Given the description of an element on the screen output the (x, y) to click on. 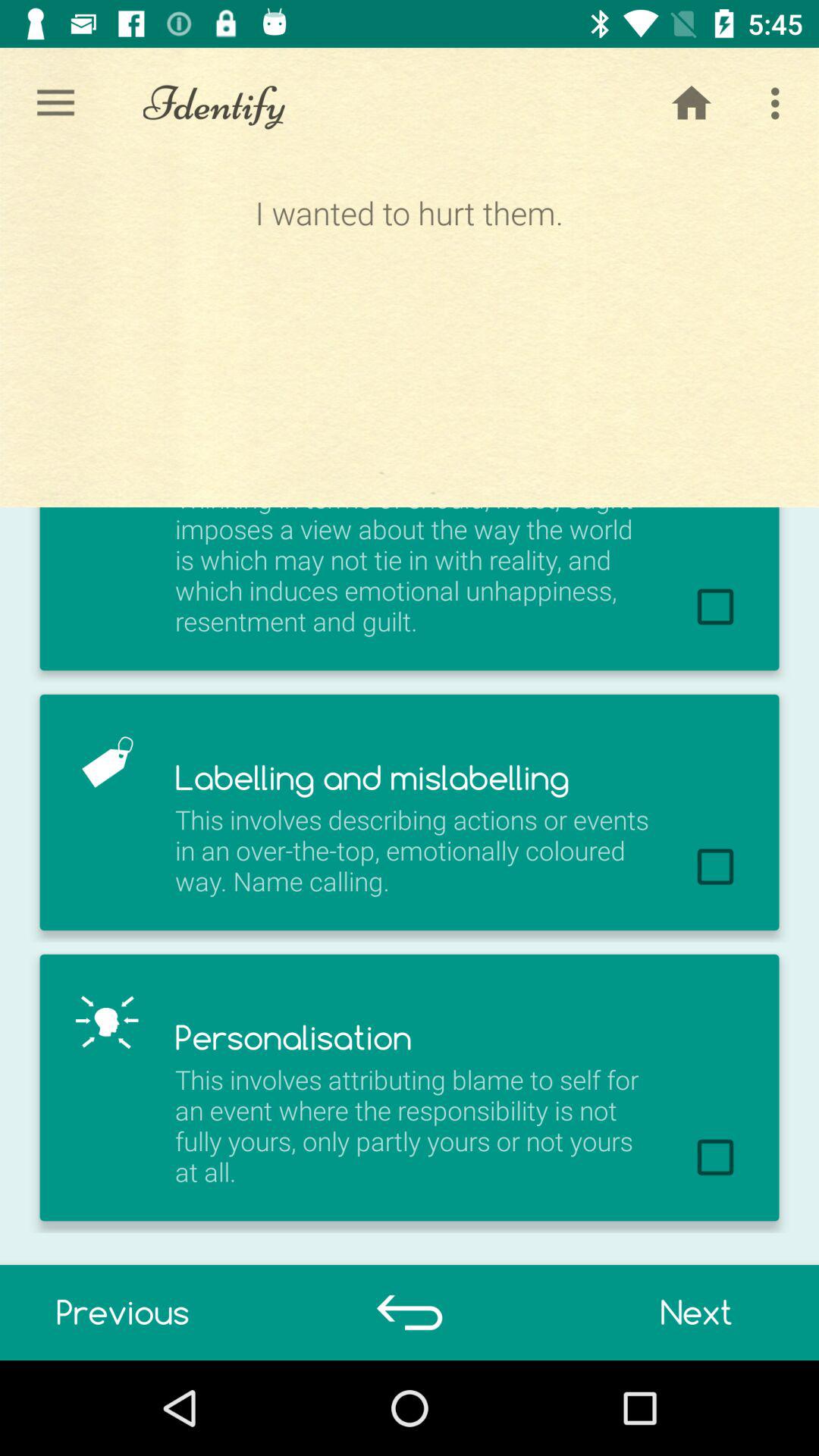
flip until the next item (696, 1312)
